Given the description of an element on the screen output the (x, y) to click on. 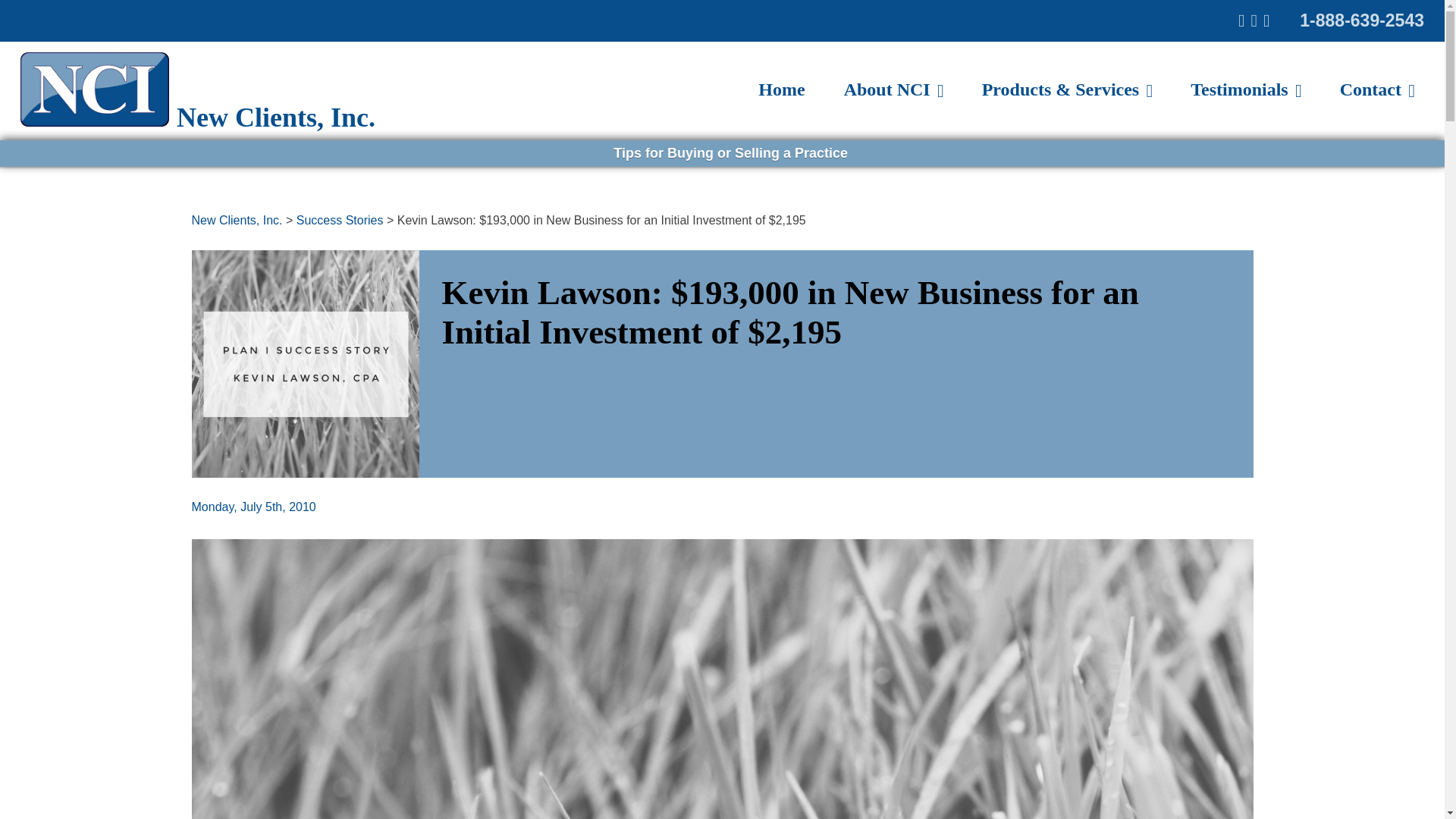
Home (780, 89)
Tips for Buying or Selling a Practice (728, 152)
Testimonials (1245, 89)
New Clients, Inc. (236, 219)
1-888-639-2543 (1361, 20)
Contact (1376, 89)
Success Stories (340, 219)
New Clients, Inc. (197, 117)
About NCI (893, 89)
